Given the description of an element on the screen output the (x, y) to click on. 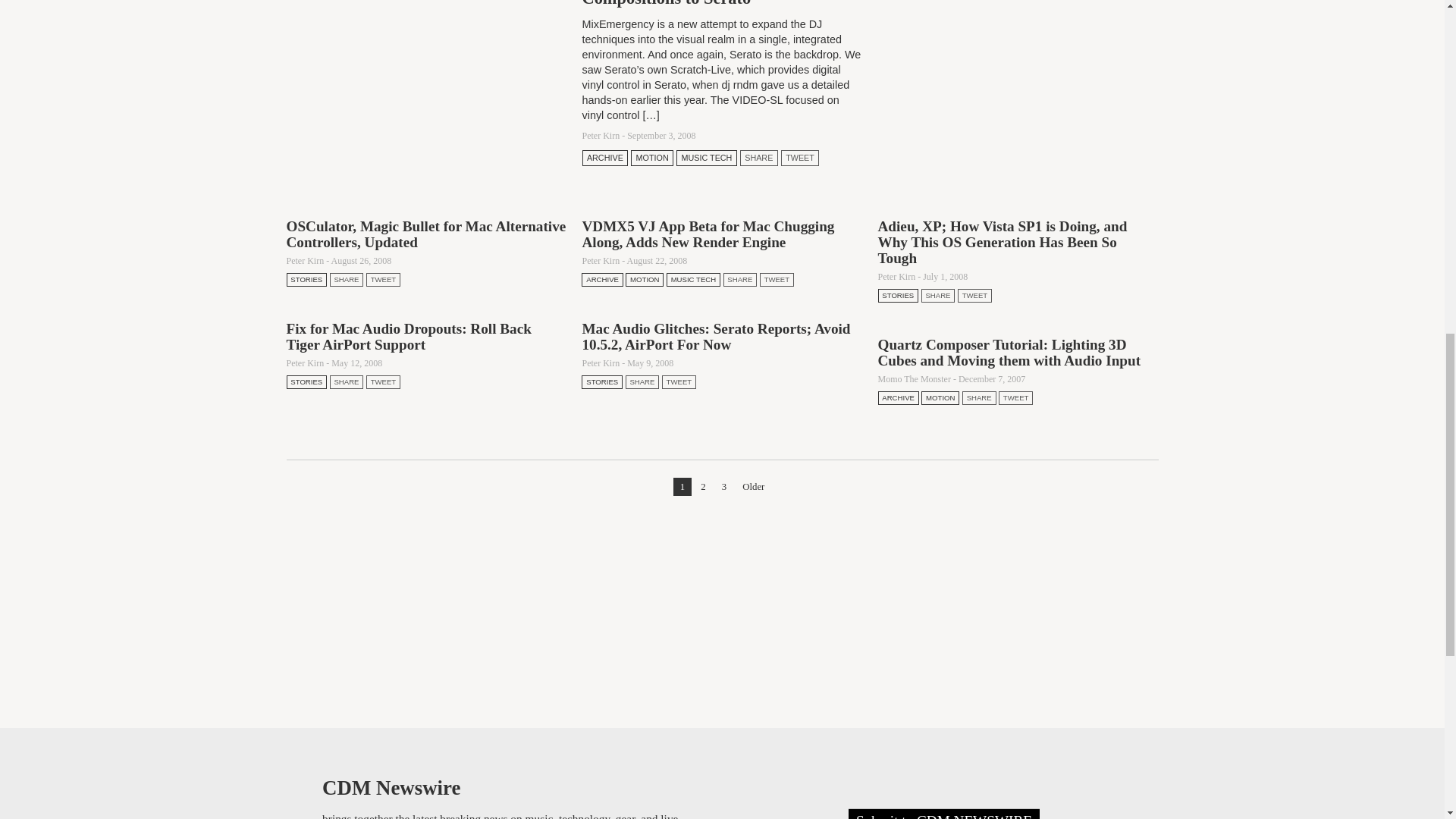
MOTION (651, 157)
SHARE (347, 279)
3rd party ad content (1017, 74)
ARCHIVE (605, 157)
3rd party ad content (721, 608)
SHARE (758, 157)
MUSIC TECH (706, 157)
STORIES (306, 279)
TWEET (799, 157)
TWEET (383, 279)
